Given the description of an element on the screen output the (x, y) to click on. 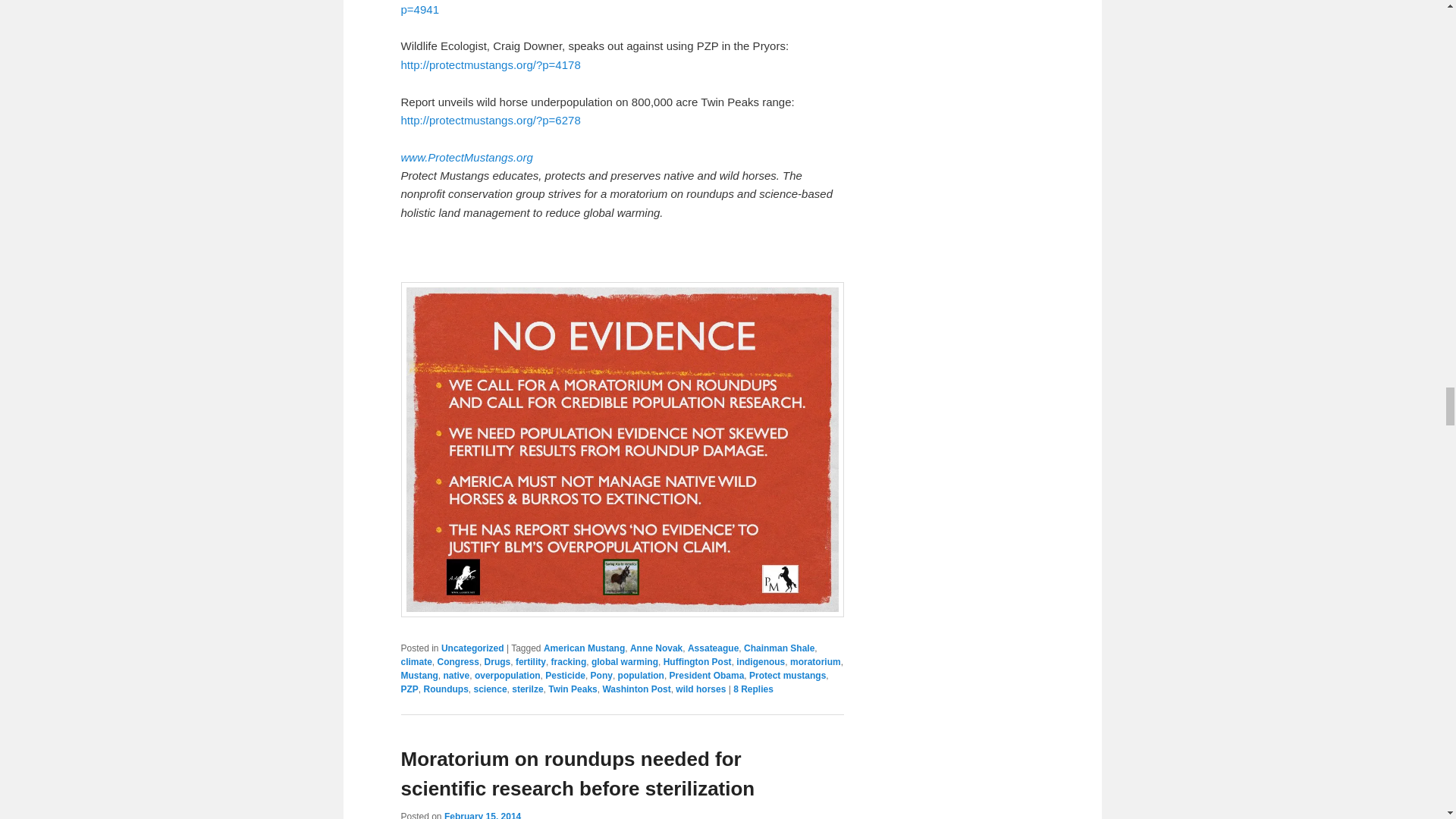
12:48 am (482, 815)
